Given the description of an element on the screen output the (x, y) to click on. 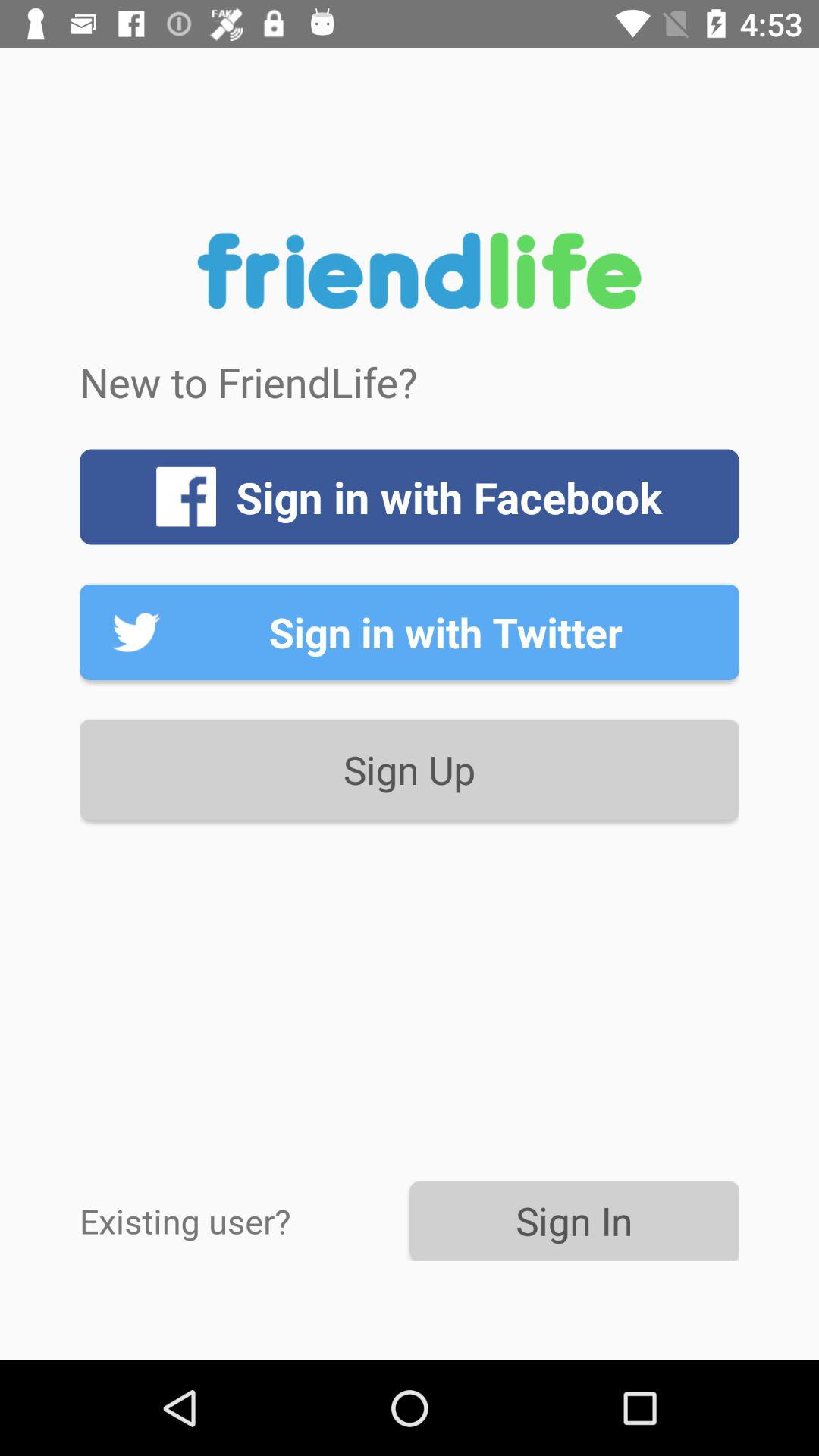
open the existing user? (244, 1220)
